Given the description of an element on the screen output the (x, y) to click on. 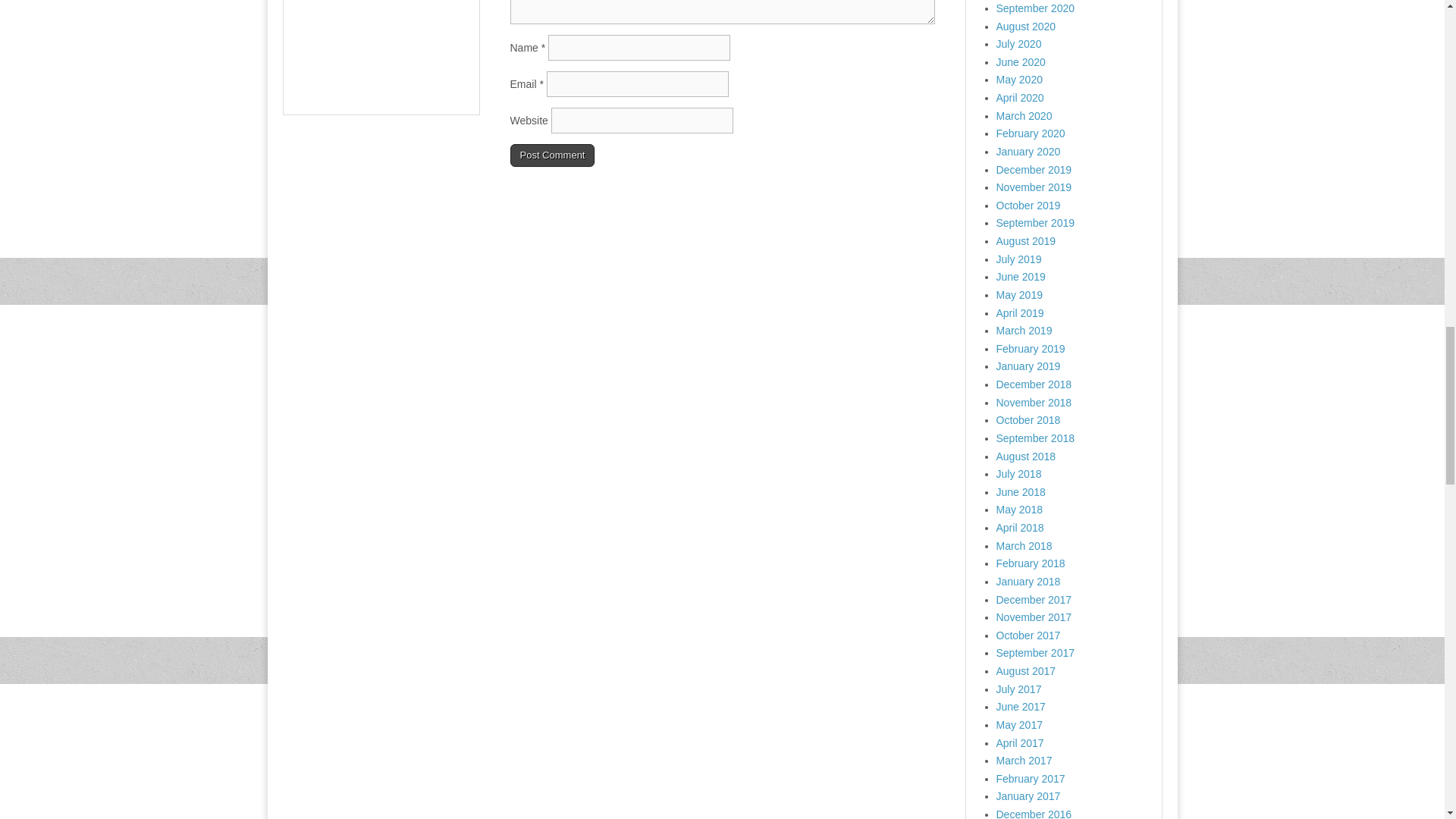
Post Comment (551, 155)
Post Comment (551, 155)
